Given the description of an element on the screen output the (x, y) to click on. 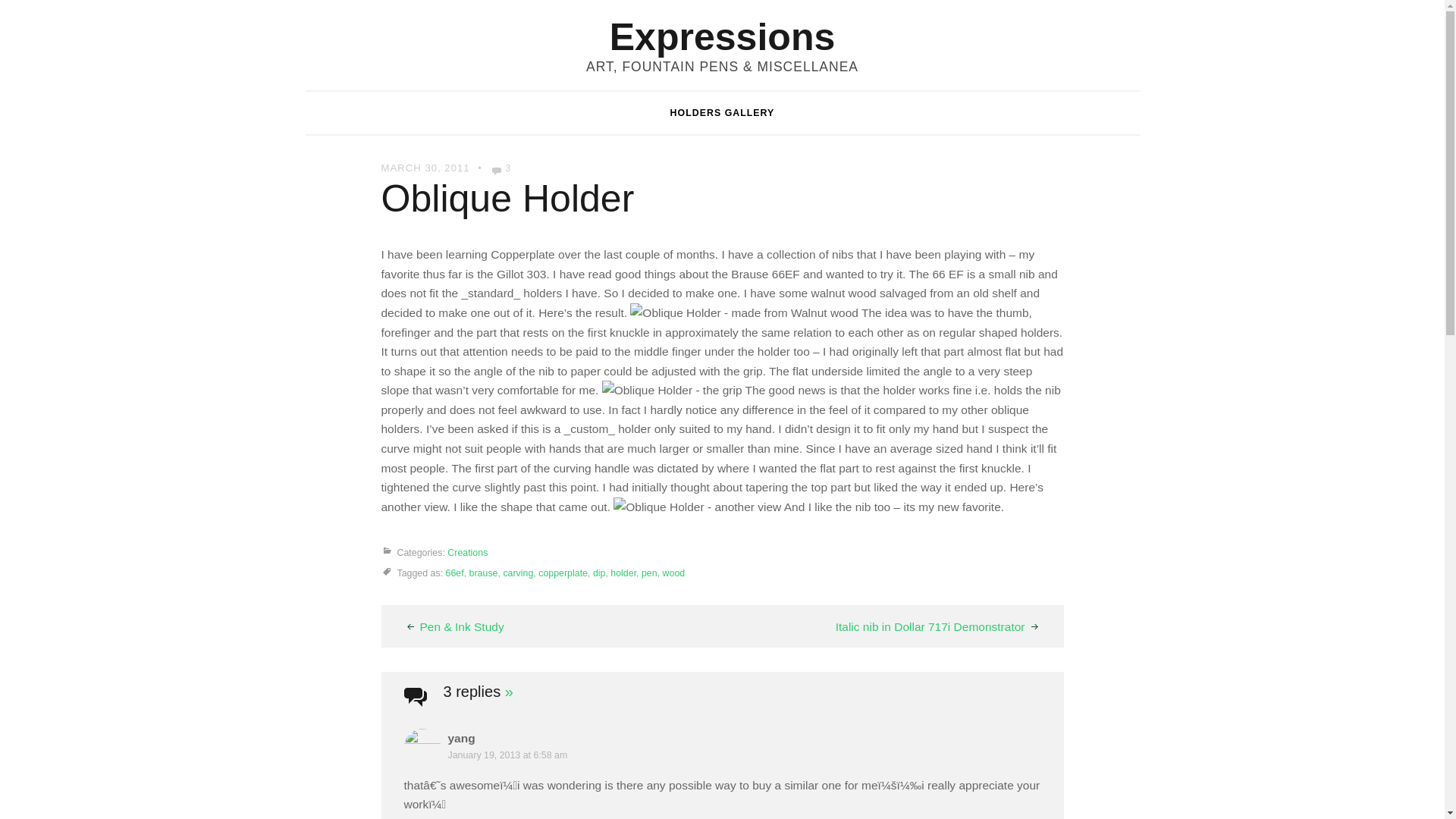
holder (623, 573)
Italic nib in Dollar 717i Demonstrator (938, 626)
carving (517, 573)
Home (722, 36)
HOLDERS GALLERY (722, 112)
copperplate (563, 573)
Expressions (722, 36)
dip (598, 573)
Creations (466, 552)
wood (673, 573)
January 19, 2013 at 6:58 am (506, 755)
3 (501, 167)
66ef (454, 573)
brause (482, 573)
pen (650, 573)
